Given the description of an element on the screen output the (x, y) to click on. 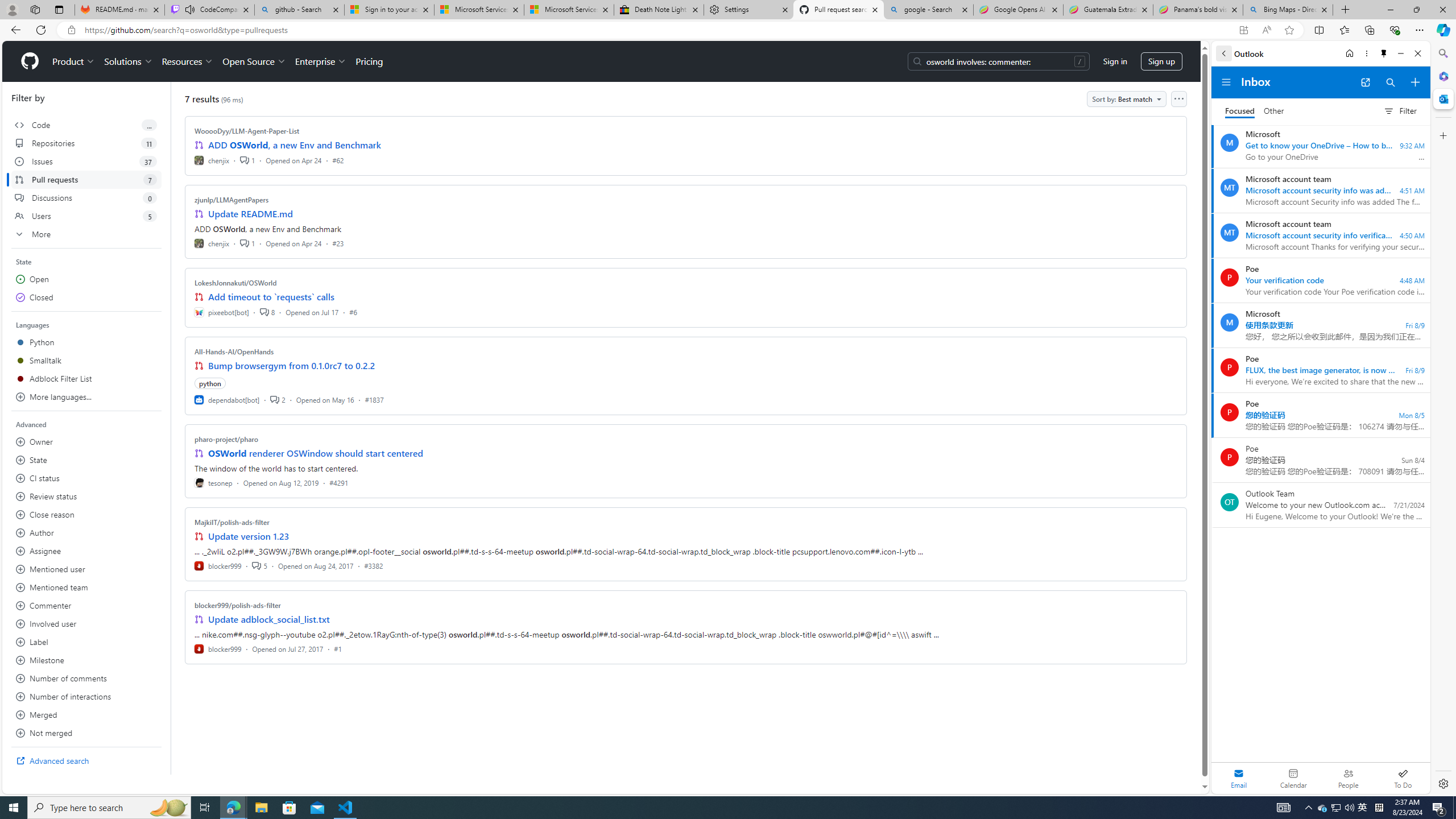
blocker999/polish-ads-filter (238, 605)
App available. Install GitHub (1243, 29)
All-Hands-AI/OpenHands (234, 351)
MajkiIT/polish-ads-filter (232, 521)
google - Search (928, 9)
#62 (337, 159)
